Given the description of an element on the screen output the (x, y) to click on. 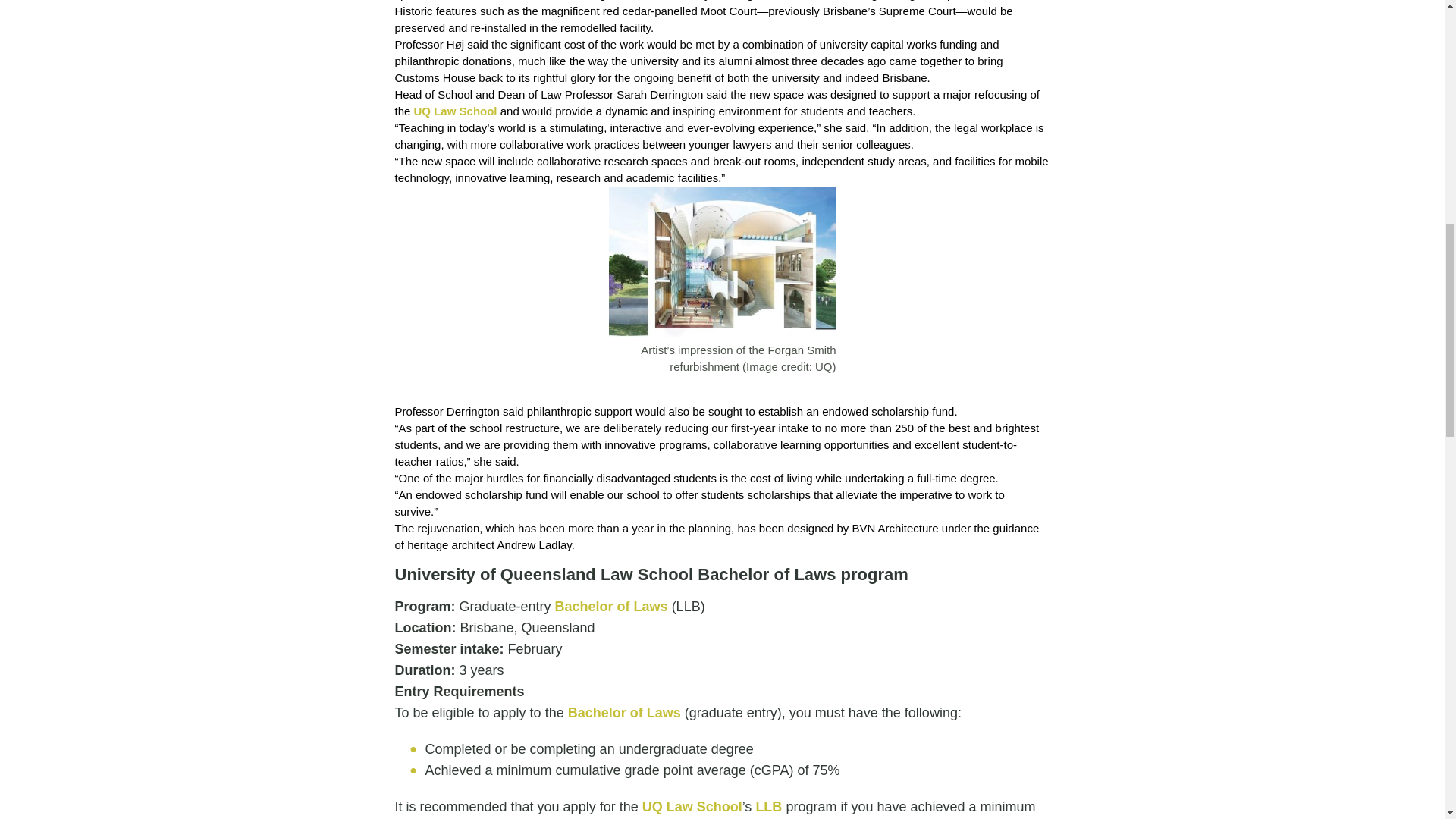
University of Queensland Bachelor of Laws (611, 606)
University of Queensland Bachelor of Laws (624, 712)
UQ's graduate-entry LLB program (768, 806)
University of Queensland Law School (455, 110)
Find out more about the University of Queensland (721, 262)
University of Queensland Law School (692, 806)
